Given the description of an element on the screen output the (x, y) to click on. 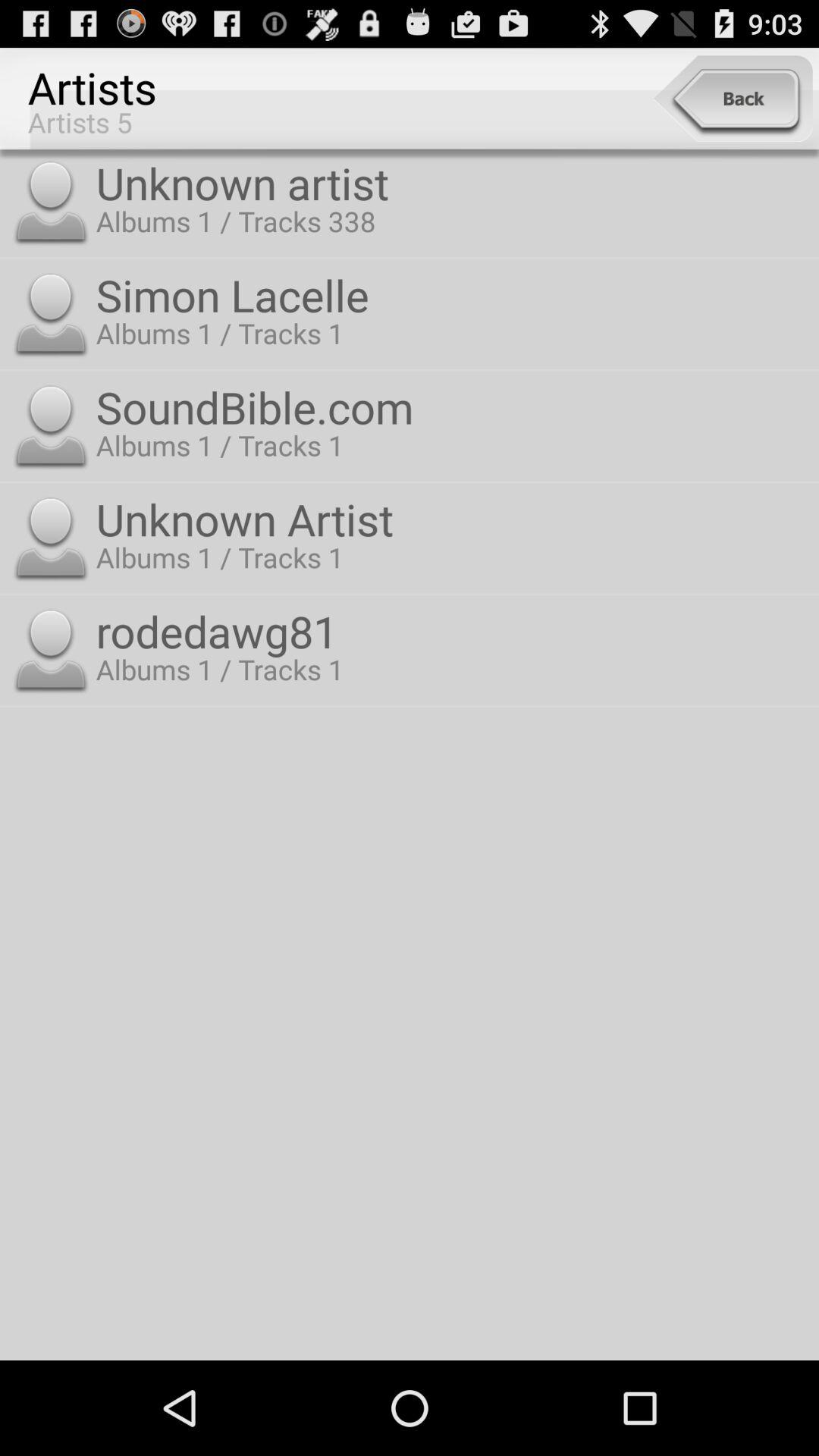
open icon next to the artists (732, 98)
